Given the description of an element on the screen output the (x, y) to click on. 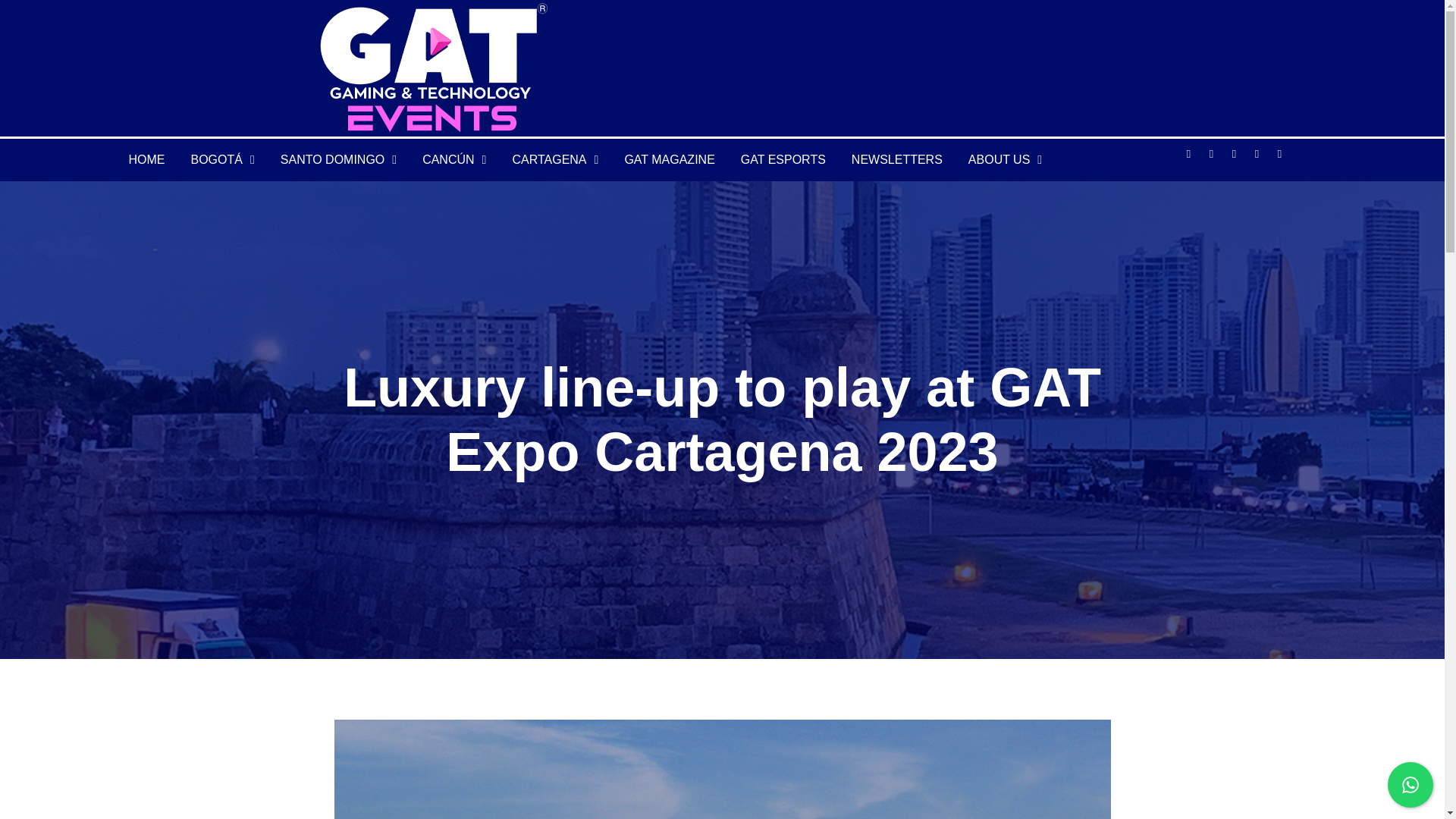
CARTAGENA (555, 159)
HOME (146, 159)
SANTO DOMINGO (338, 159)
